Given the description of an element on the screen output the (x, y) to click on. 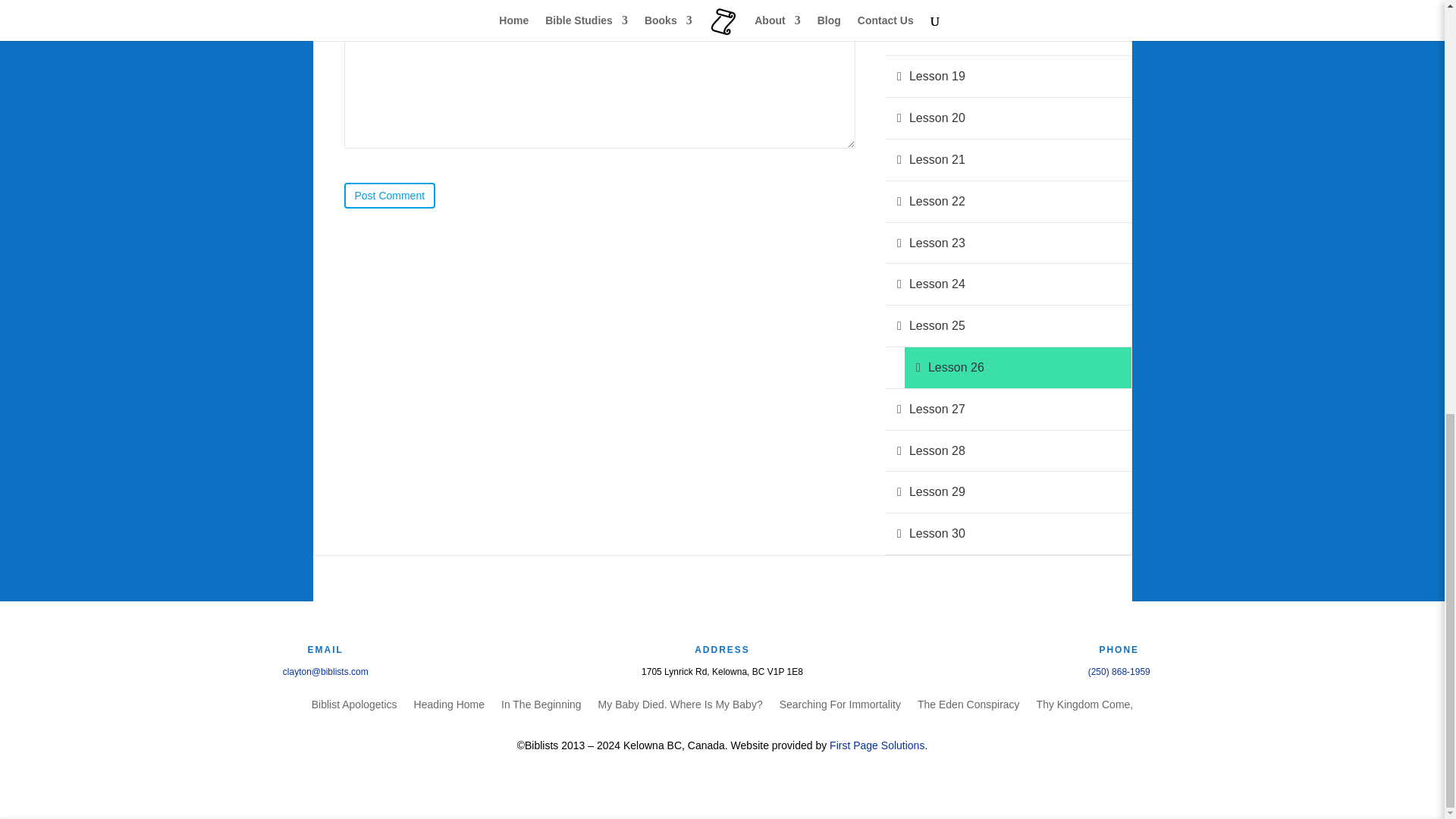
First Page Solutions (876, 745)
